Given the description of an element on the screen output the (x, y) to click on. 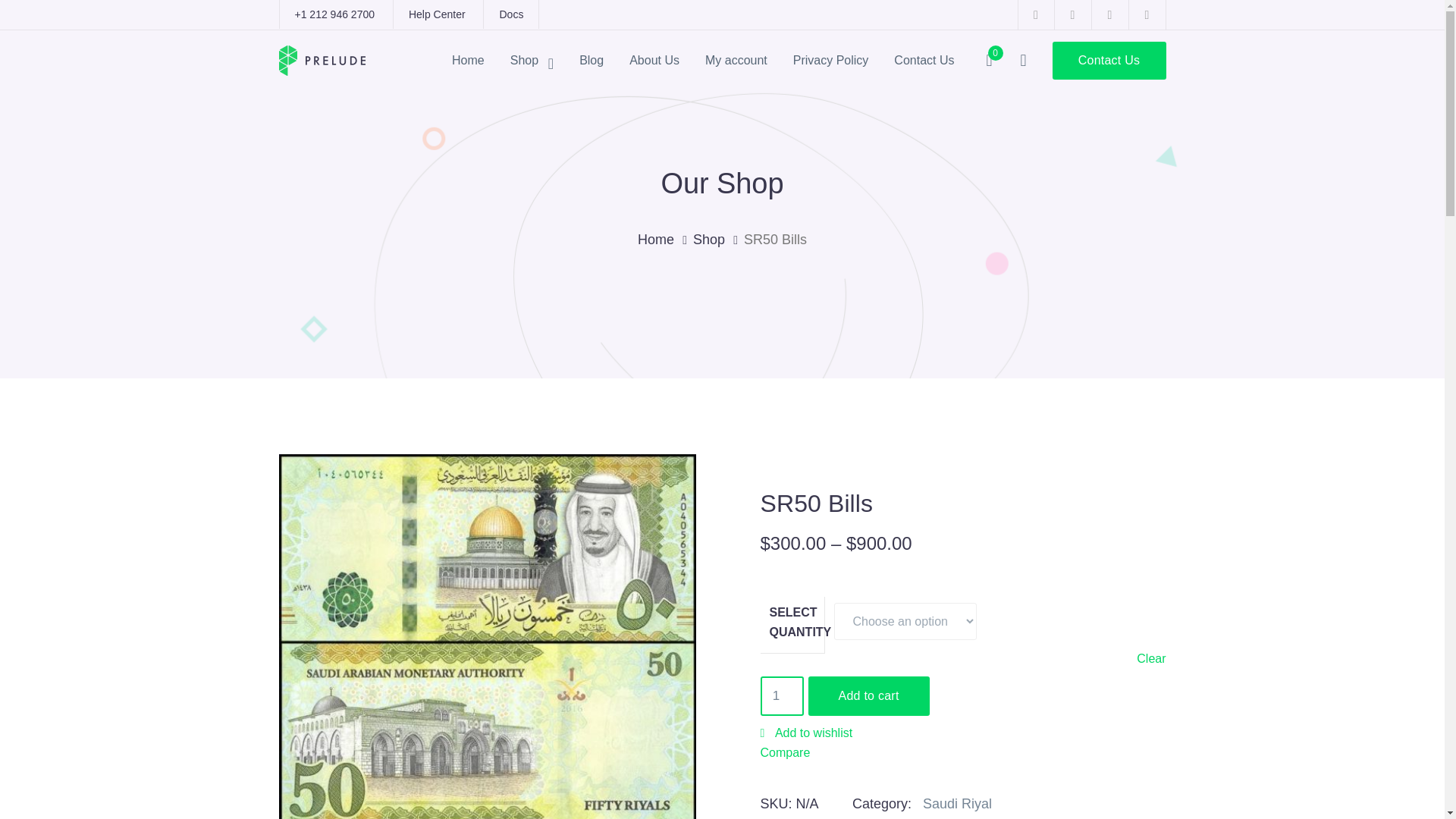
My account (735, 60)
Contact Us (1109, 60)
Privacy Policy (831, 60)
Add to cart (869, 695)
Docs (510, 14)
Twitter (1072, 14)
Shop (718, 239)
Facebook (1035, 14)
Instagram Profile (1110, 14)
0 (988, 60)
1 (781, 695)
Contact Us (923, 60)
Prop Money Service (322, 59)
Home (665, 239)
